Given the description of an element on the screen output the (x, y) to click on. 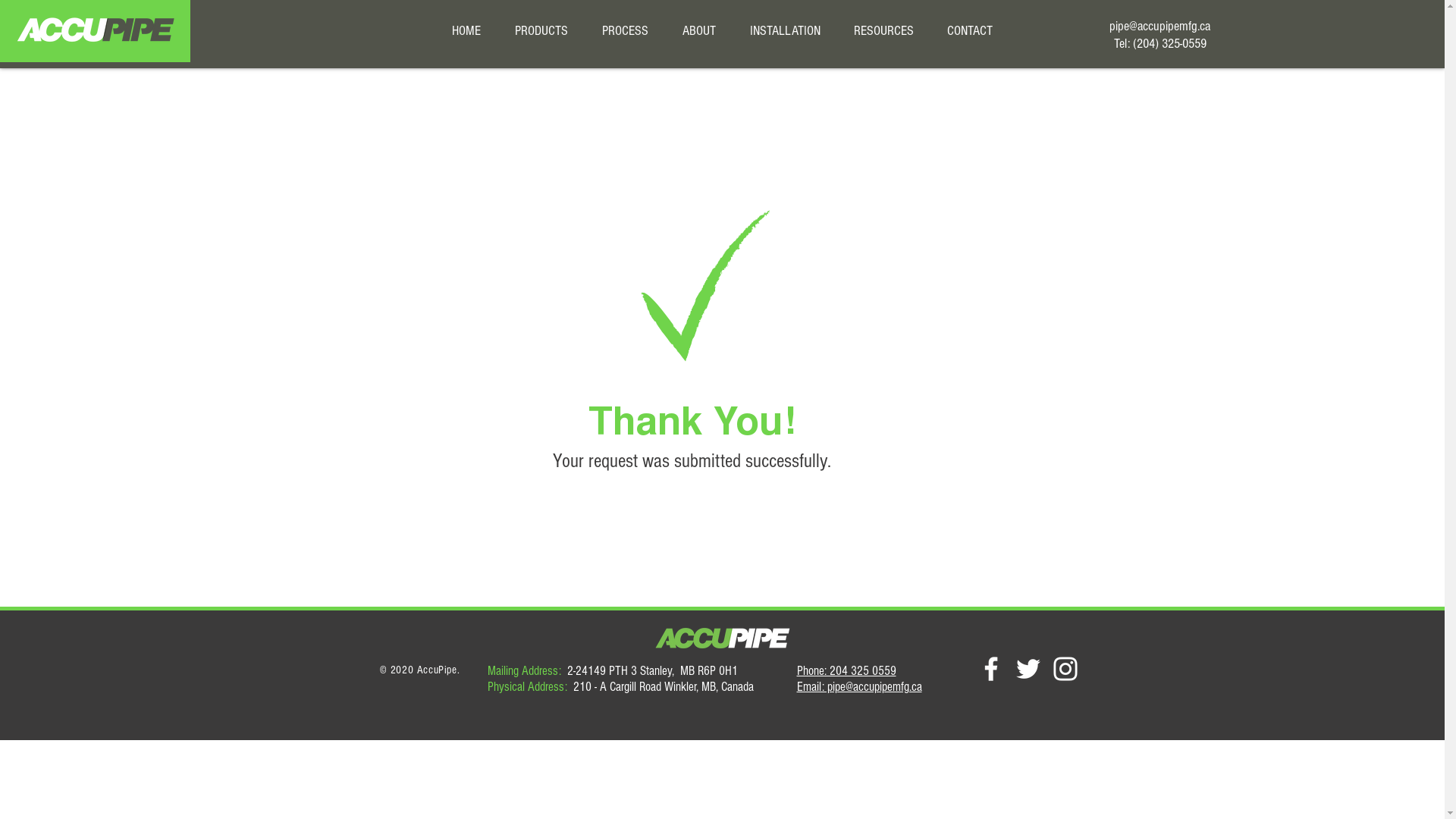
  2-24149 PTH 3 Stanley,  MB R6P 0H1 Element type: text (649, 670)
Mailing Address: Element type: text (523, 670)
PROCESS Element type: text (625, 30)
pipe@accupipemfg.ca Element type: text (1159, 25)
PRODUCTS Element type: text (540, 30)
Email: pipe@accupipemfg.ca Element type: text (858, 686)
RESOURCES Element type: text (883, 30)
INSTALLATION Element type: text (784, 30)
Phone: 204 325 0559 Element type: text (845, 670)
ABOUT Element type: text (699, 30)
HOME Element type: text (466, 30)
210 - A Cargill Road Winkler, MB, Canada Element type: text (663, 686)
Physical Address:  Element type: text (529, 686)
Tel: (204) 325-0559 Element type: text (1159, 42)
CONTACT Element type: text (968, 30)
